Given the description of an element on the screen output the (x, y) to click on. 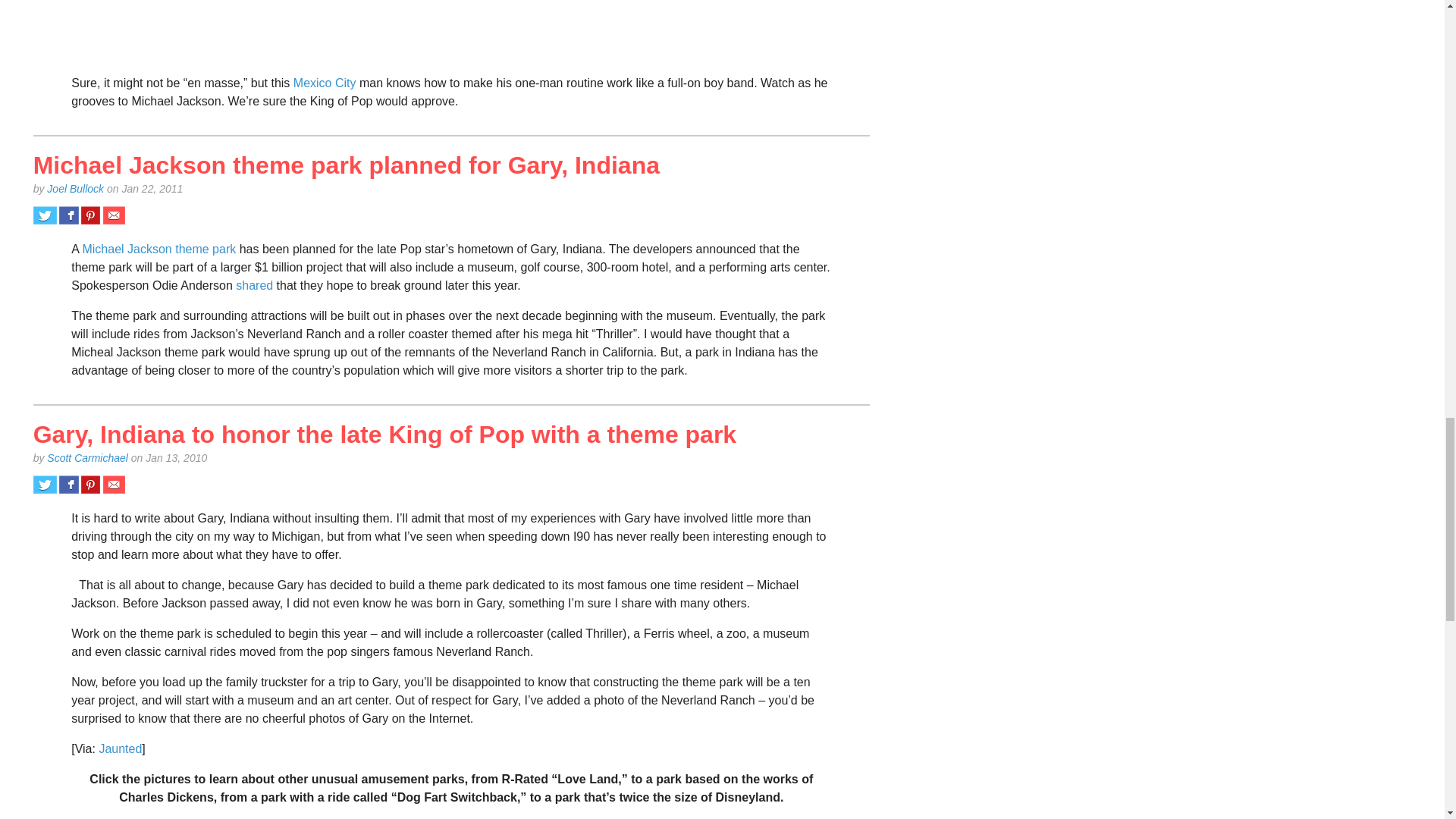
Michael Jackson theme park planned for Gary, Indiana (346, 165)
